Given the description of an element on the screen output the (x, y) to click on. 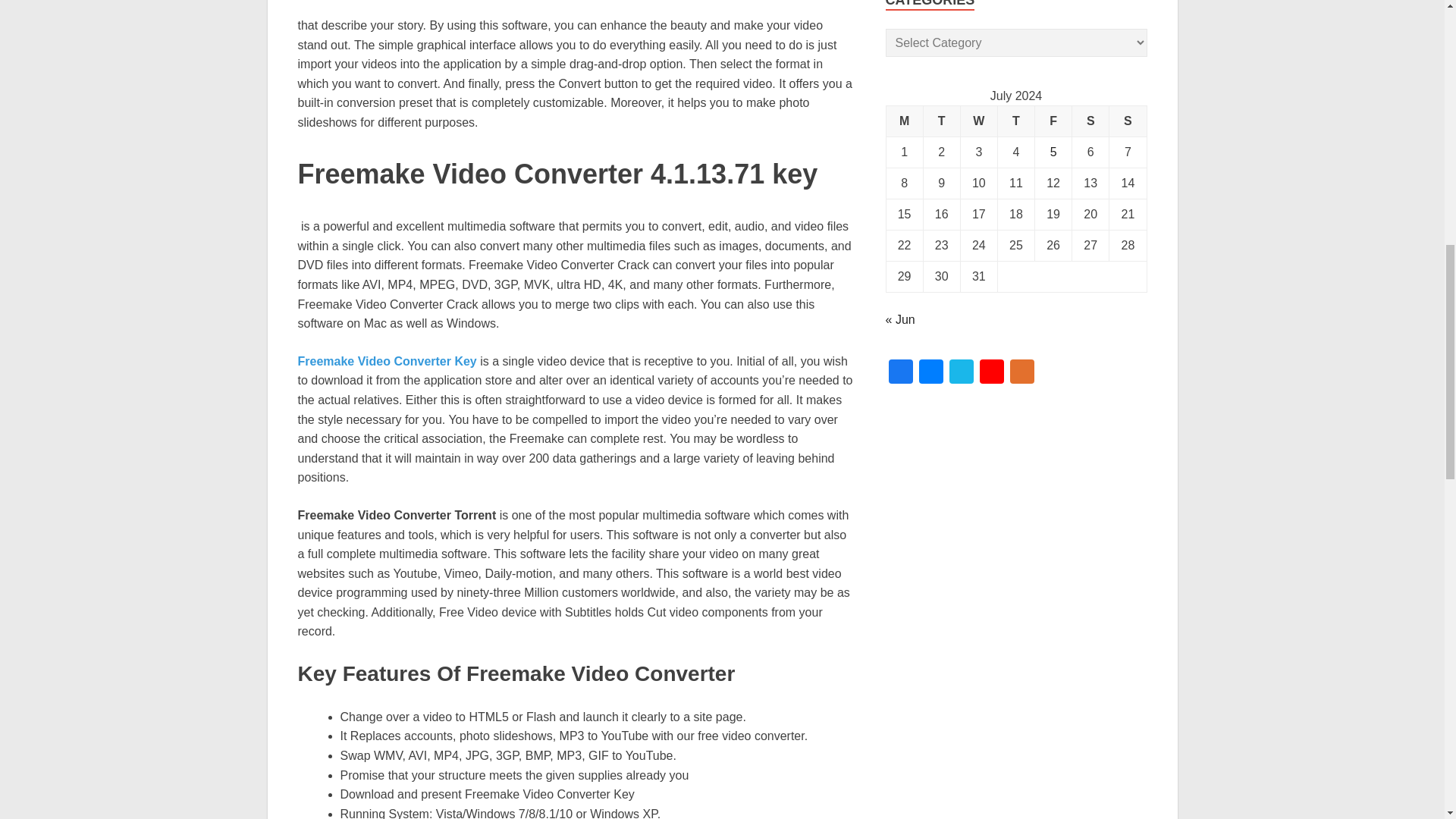
Freemake Video Converter Key (386, 360)
Monday (904, 120)
